Given the description of an element on the screen output the (x, y) to click on. 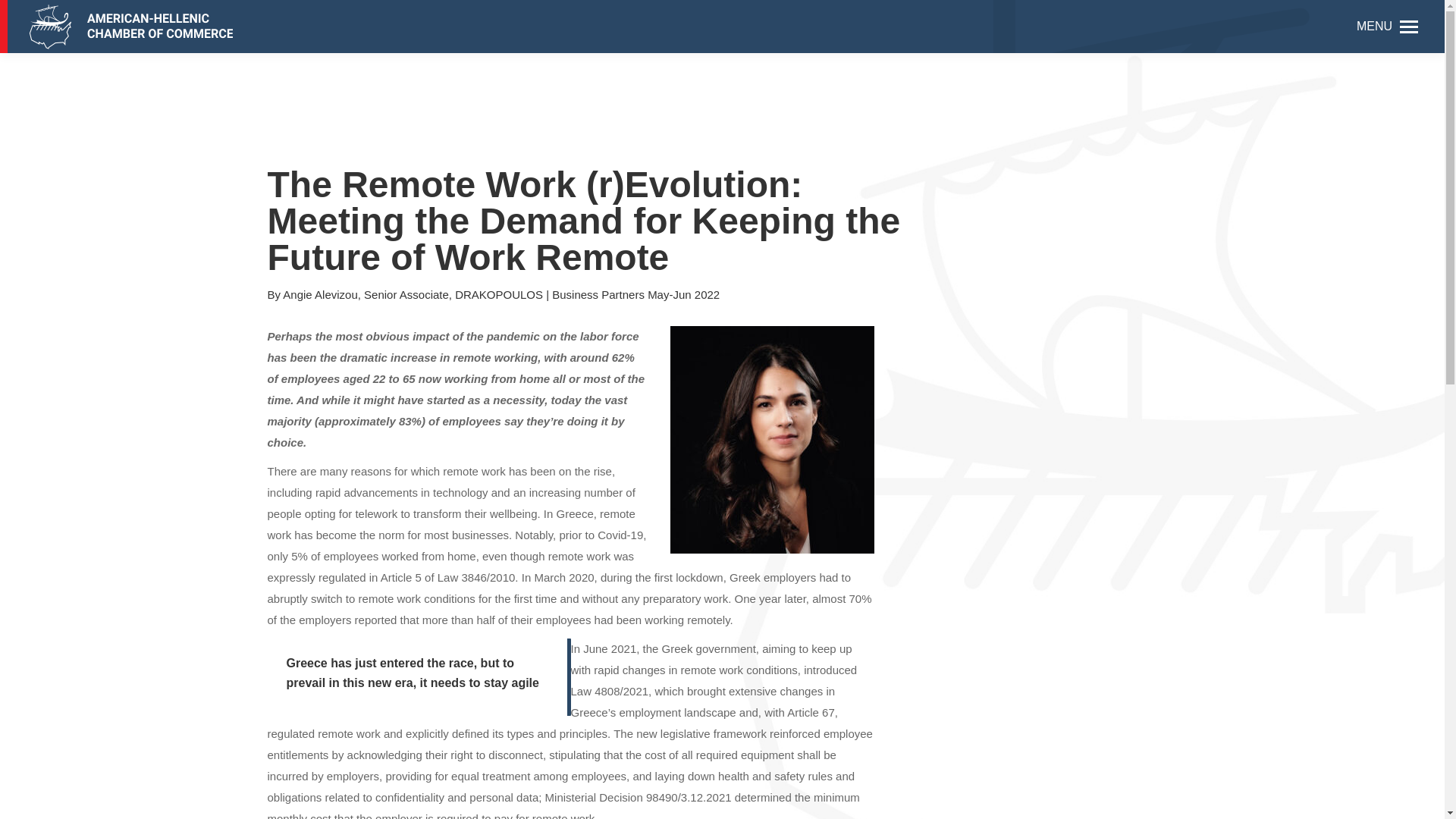
Go! (53, 15)
